Given the description of an element on the screen output the (x, y) to click on. 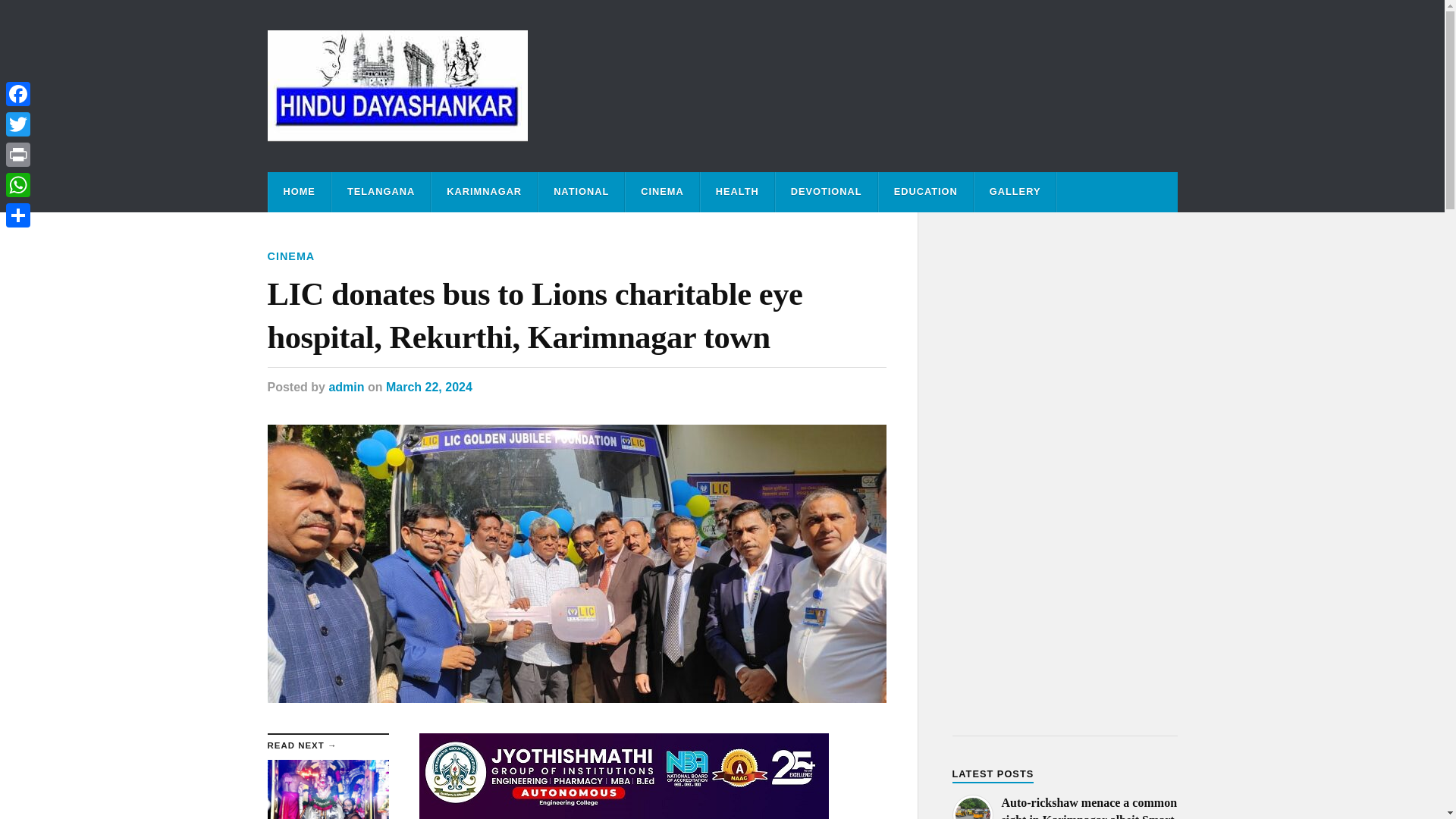
CINEMA (662, 191)
WhatsApp (17, 184)
DEVOTIONAL (826, 191)
admin (346, 386)
March 22, 2024 (428, 386)
Print (17, 154)
NATIONAL (581, 191)
KARIMNAGAR (483, 191)
CINEMA (290, 256)
Twitter (17, 123)
EDUCATION (925, 191)
HEALTH (737, 191)
GALLERY (1015, 191)
Facebook (17, 93)
